Given the description of an element on the screen output the (x, y) to click on. 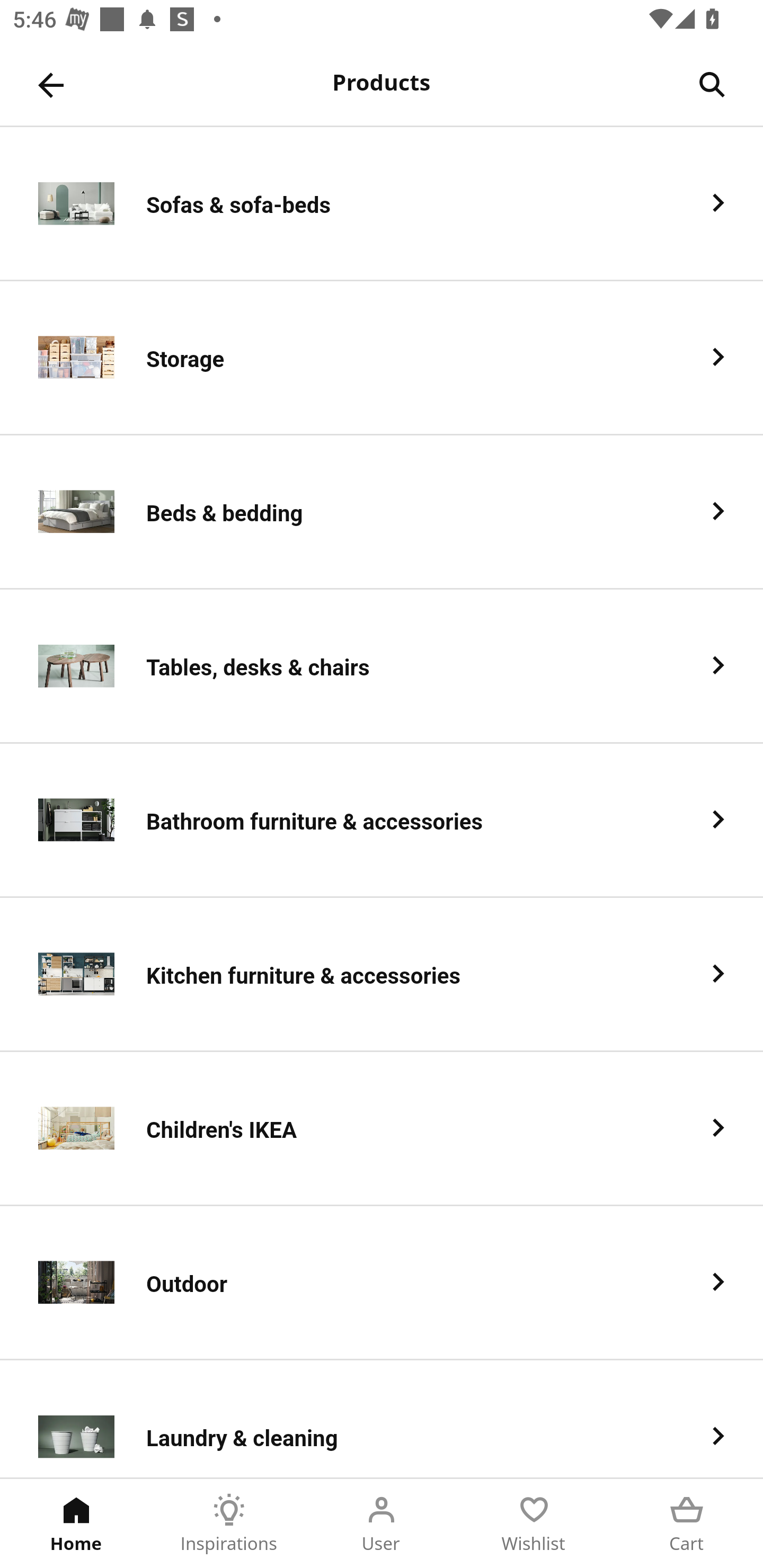
Sofas & sofa-beds (381, 203)
Storage (381, 357)
Beds & bedding (381, 512)
Tables, desks & chairs (381, 666)
Bathroom furniture & accessories (381, 820)
Kitchen furniture & accessories (381, 975)
Children's IKEA (381, 1128)
Outdoor (381, 1283)
Laundry & cleaning (381, 1419)
Home
Tab 1 of 5 (76, 1522)
Inspirations
Tab 2 of 5 (228, 1522)
User
Tab 3 of 5 (381, 1522)
Wishlist
Tab 4 of 5 (533, 1522)
Cart
Tab 5 of 5 (686, 1522)
